Given the description of an element on the screen output the (x, y) to click on. 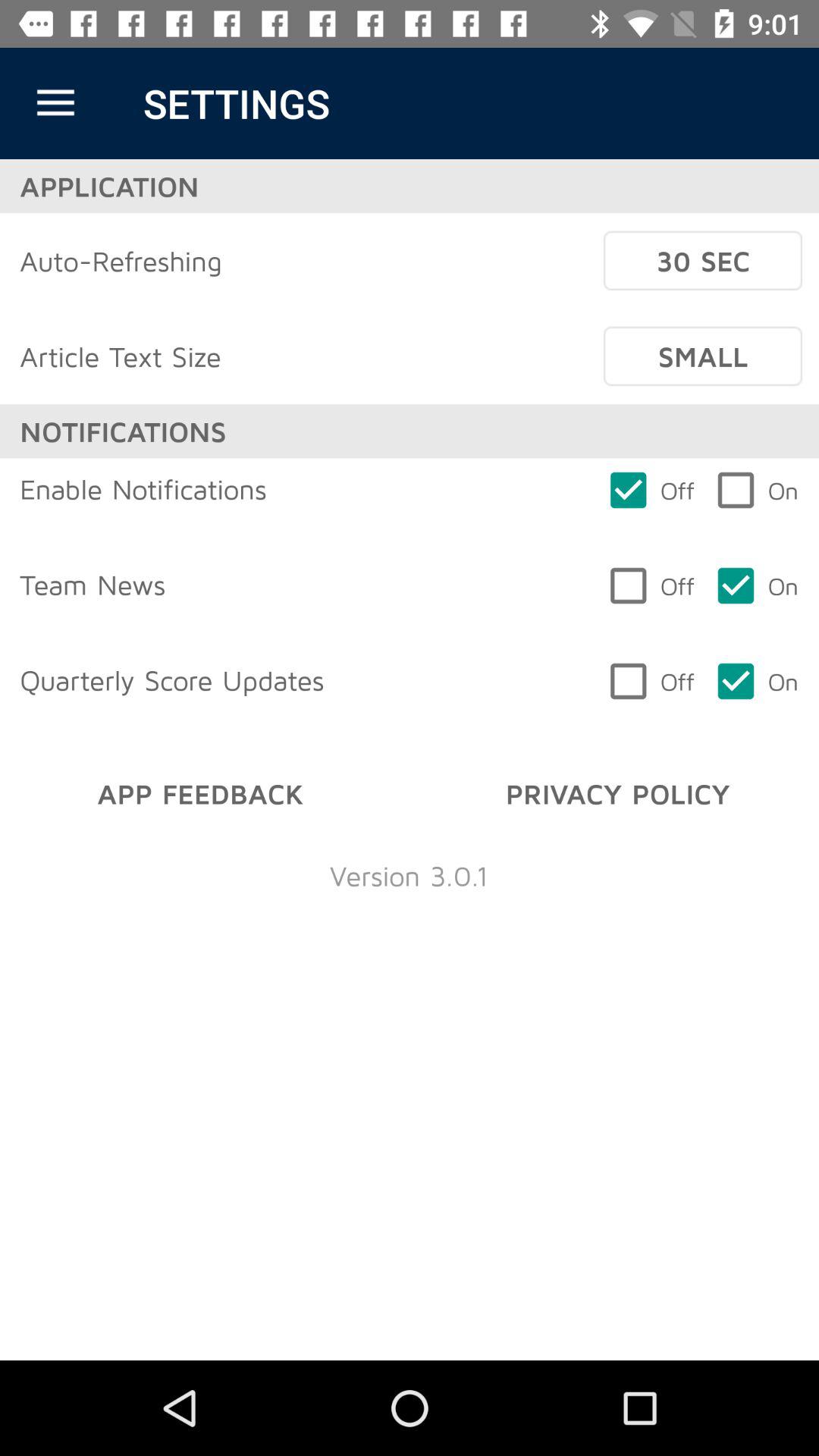
swipe to version 3 0 item (408, 875)
